Given the description of an element on the screen output the (x, y) to click on. 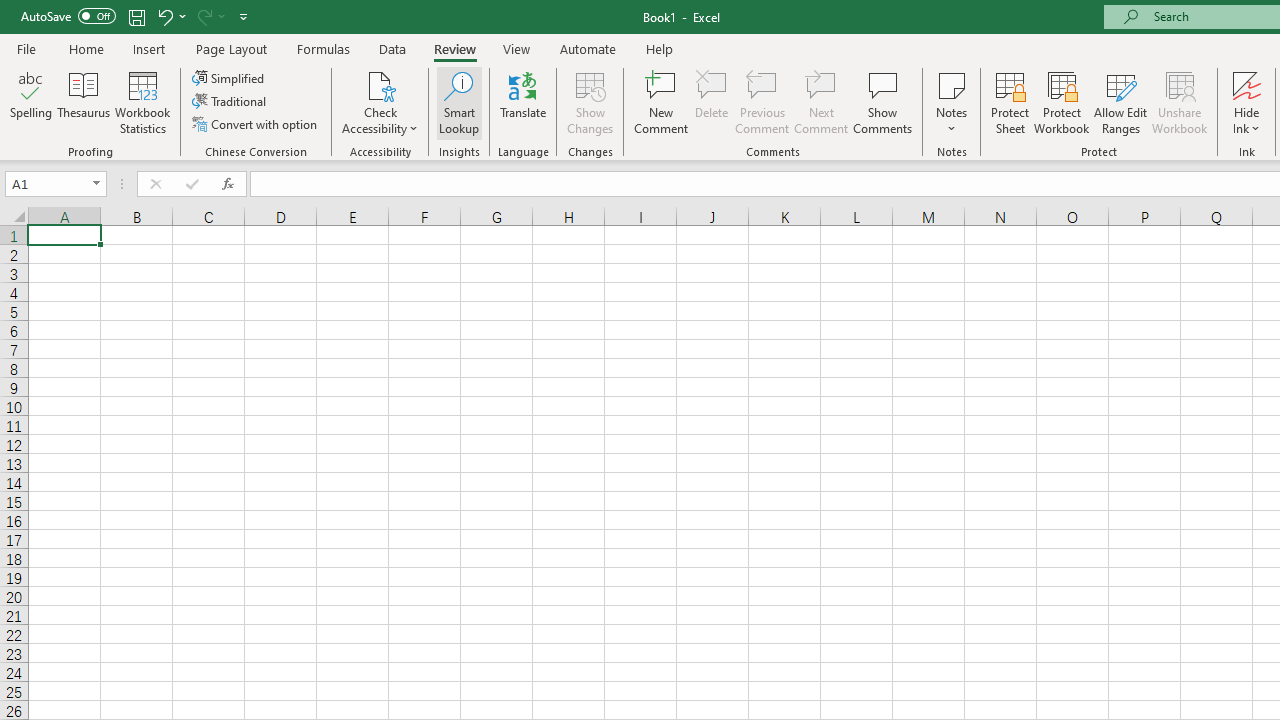
Traditional (230, 101)
Allow Edit Ranges (1120, 102)
Spelling... (31, 102)
New Comment (661, 102)
Next Comment (821, 102)
Thesaurus... (83, 102)
Previous Comment (762, 102)
Hide Ink (1247, 84)
Protect Workbook... (1061, 102)
Unshare Workbook (1179, 102)
Delete (712, 102)
